Given the description of an element on the screen output the (x, y) to click on. 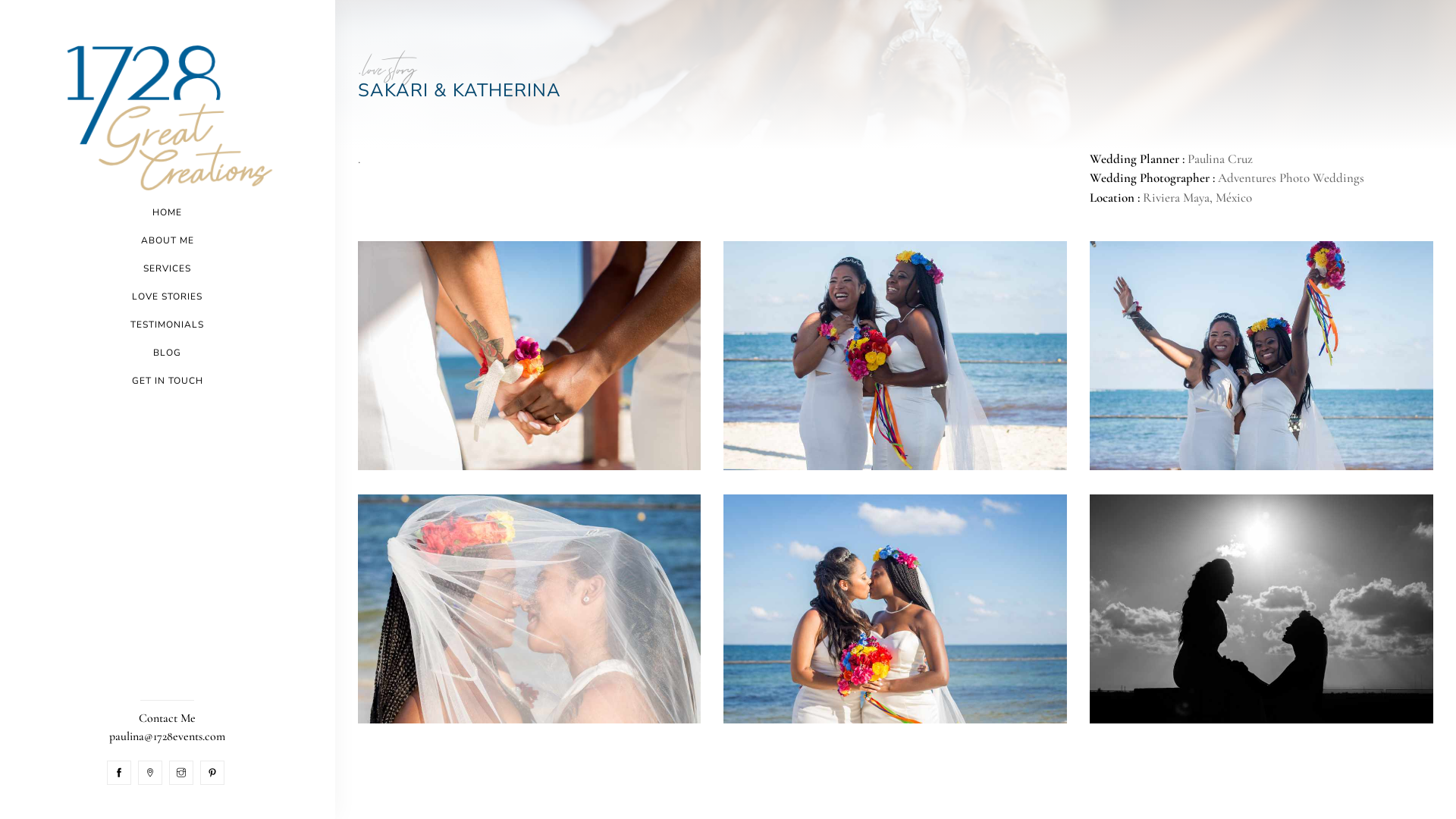
HOME Element type: text (167, 212)
Sakari & Katherina Element type: hover (1261, 608)
LOVE STORIES Element type: text (166, 296)
Sakari & Katherina Element type: hover (529, 355)
Sakari & Katherina Element type: hover (1261, 355)
BLOG Element type: text (167, 352)
Sakari & Katherina Element type: hover (529, 608)
ABOUT ME Element type: text (167, 240)
TESTIMONIALS Element type: text (166, 324)
GET IN TOUCH Element type: text (167, 380)
Sakari & Katherina Element type: hover (894, 355)
Sakari & Katherina Element type: hover (894, 608)
SERVICES Element type: text (167, 268)
